Given the description of an element on the screen output the (x, y) to click on. 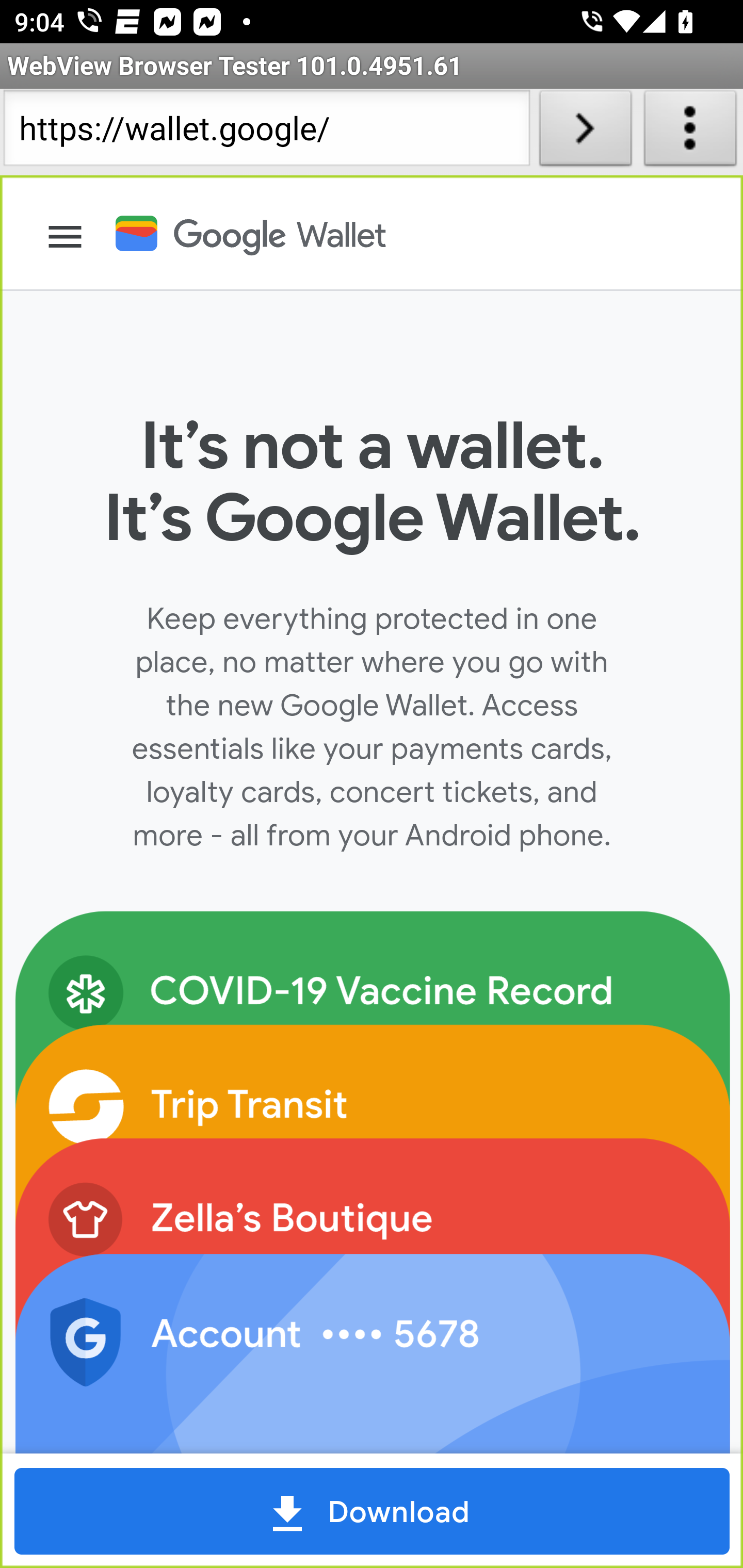
https://wallet.google/ (266, 132)
Load URL (585, 132)
About WebView (690, 132)
Google Wallet Logo (264, 233)
Open the navigation drawer (65, 237)
Download (opens in a new page) Download (372, 1511)
